Given the description of an element on the screen output the (x, y) to click on. 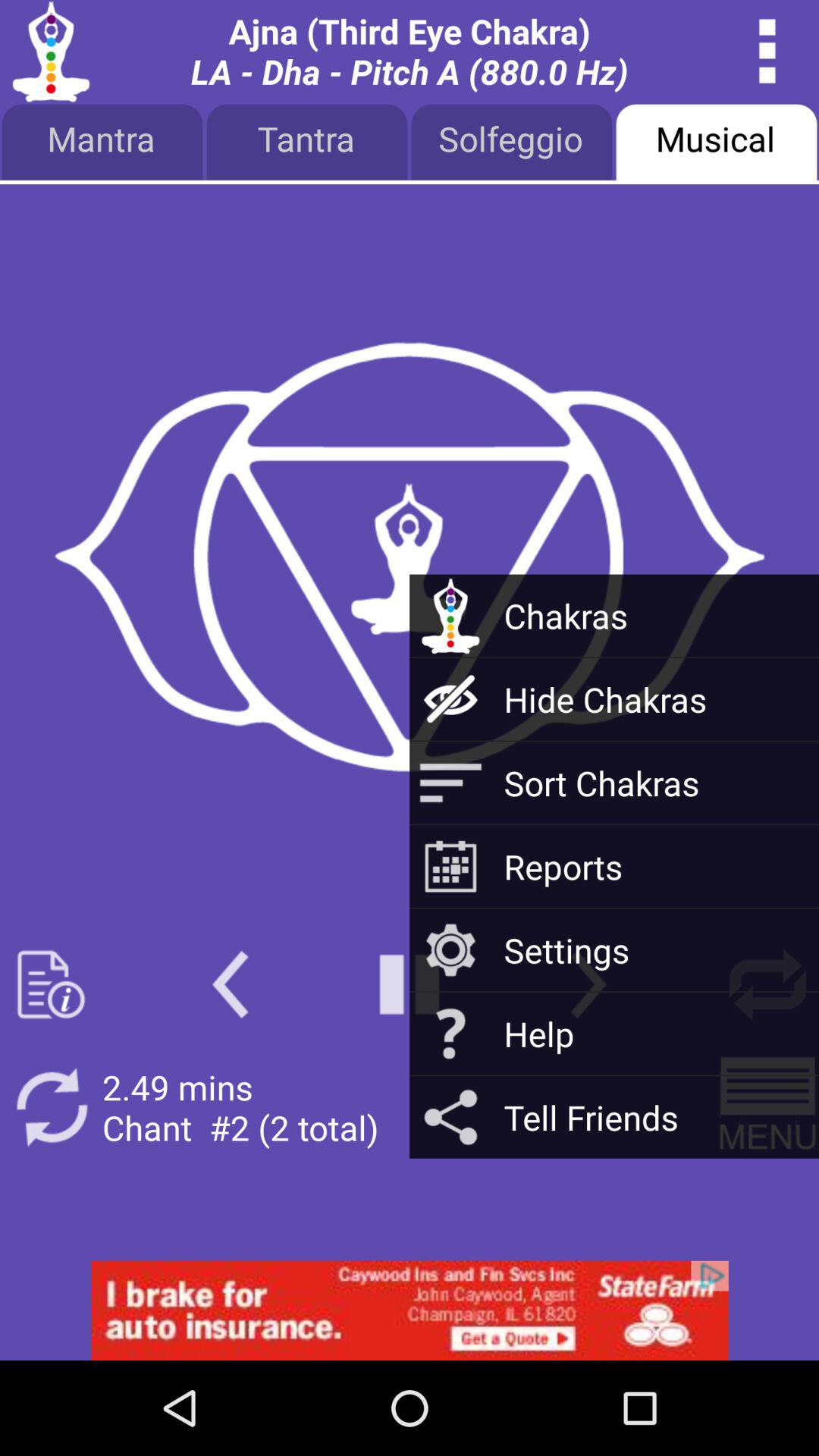
add option (409, 1310)
